Given the description of an element on the screen output the (x, y) to click on. 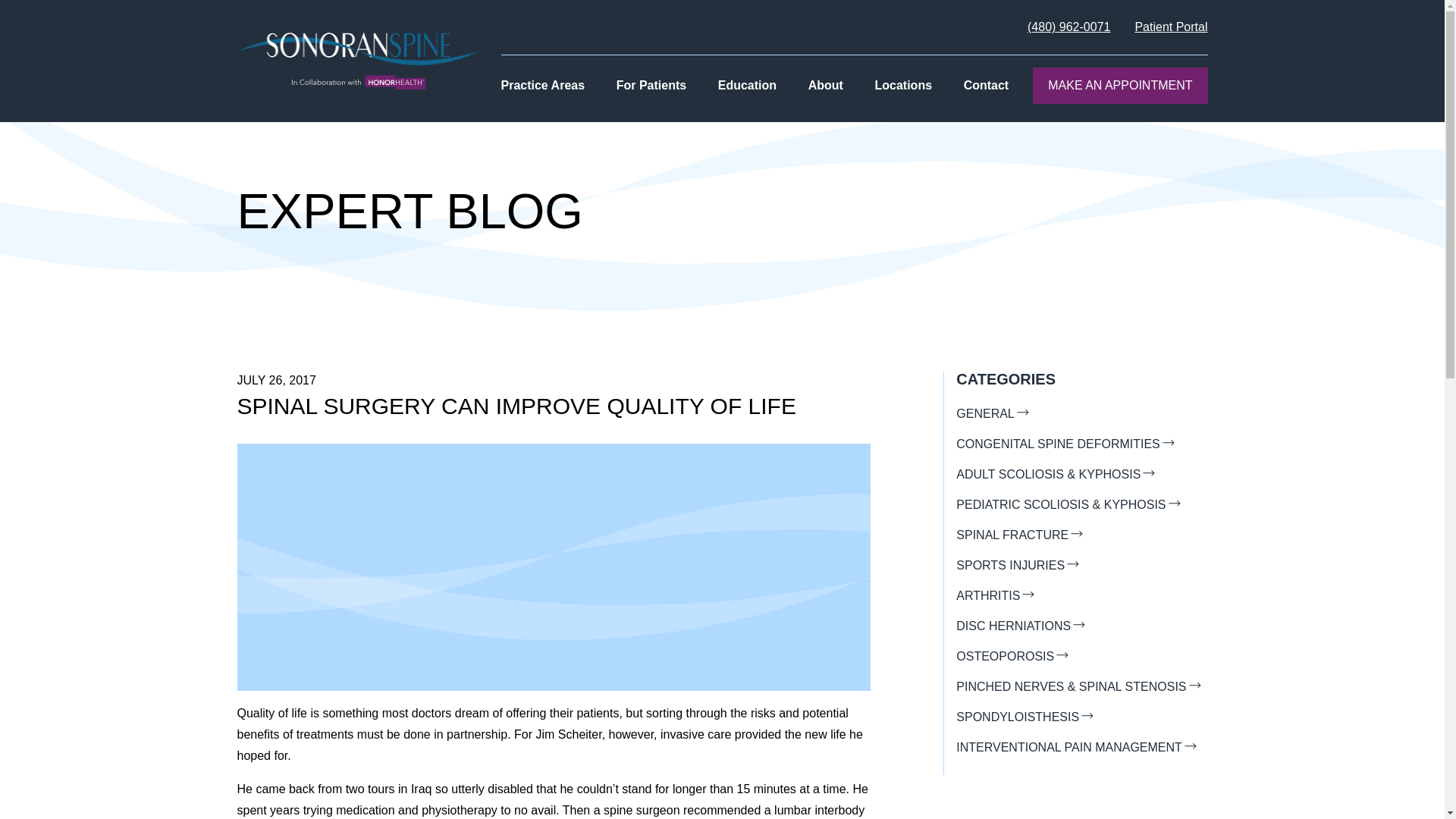
Mayo Clinic Residents (801, 101)
Spine Fellowship Program (812, 101)
University Of Arizona (799, 101)
Visiting Physicians Program (817, 101)
OUR PHILOSOPHY (887, 101)
OUR MEDICAL TEAM (892, 101)
PATIENT FORMS (688, 101)
Spinal Fracture (761, 101)
ALL LOCATIONS (945, 101)
Disc Herniations (879, 101)
